Given the description of an element on the screen output the (x, y) to click on. 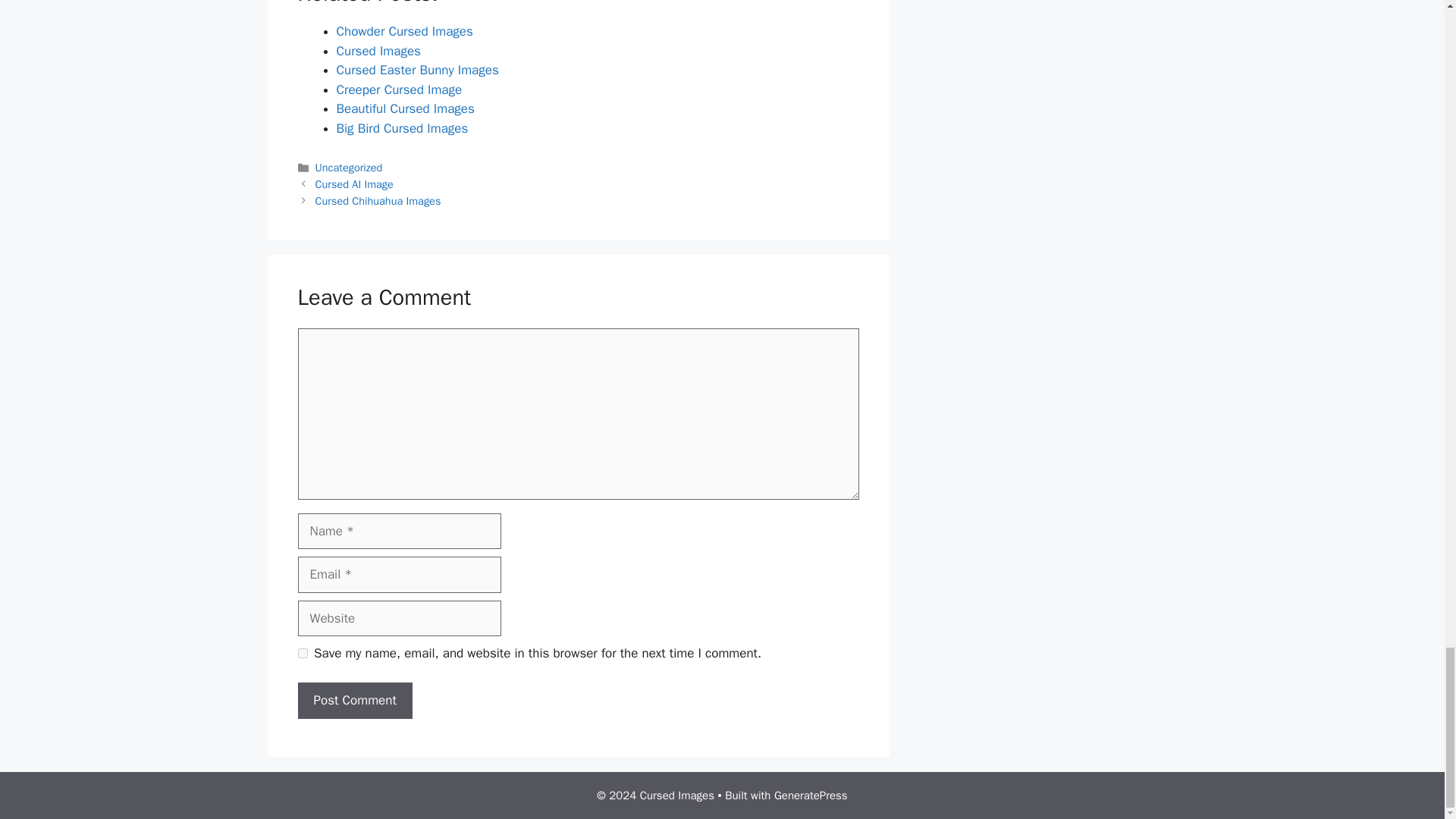
Big Bird Cursed Images (402, 128)
Beautiful Cursed Images (405, 108)
Post Comment (354, 700)
Cursed Chihuahua Images (378, 201)
Creeper Cursed Image (399, 89)
yes (302, 653)
Post Comment (354, 700)
Cursed Images (378, 50)
Chowder Cursed Images (404, 31)
GeneratePress (810, 795)
Uncategorized (348, 167)
Cursed Easter Bunny Images (417, 69)
Cursed AI Image (354, 183)
